Given the description of an element on the screen output the (x, y) to click on. 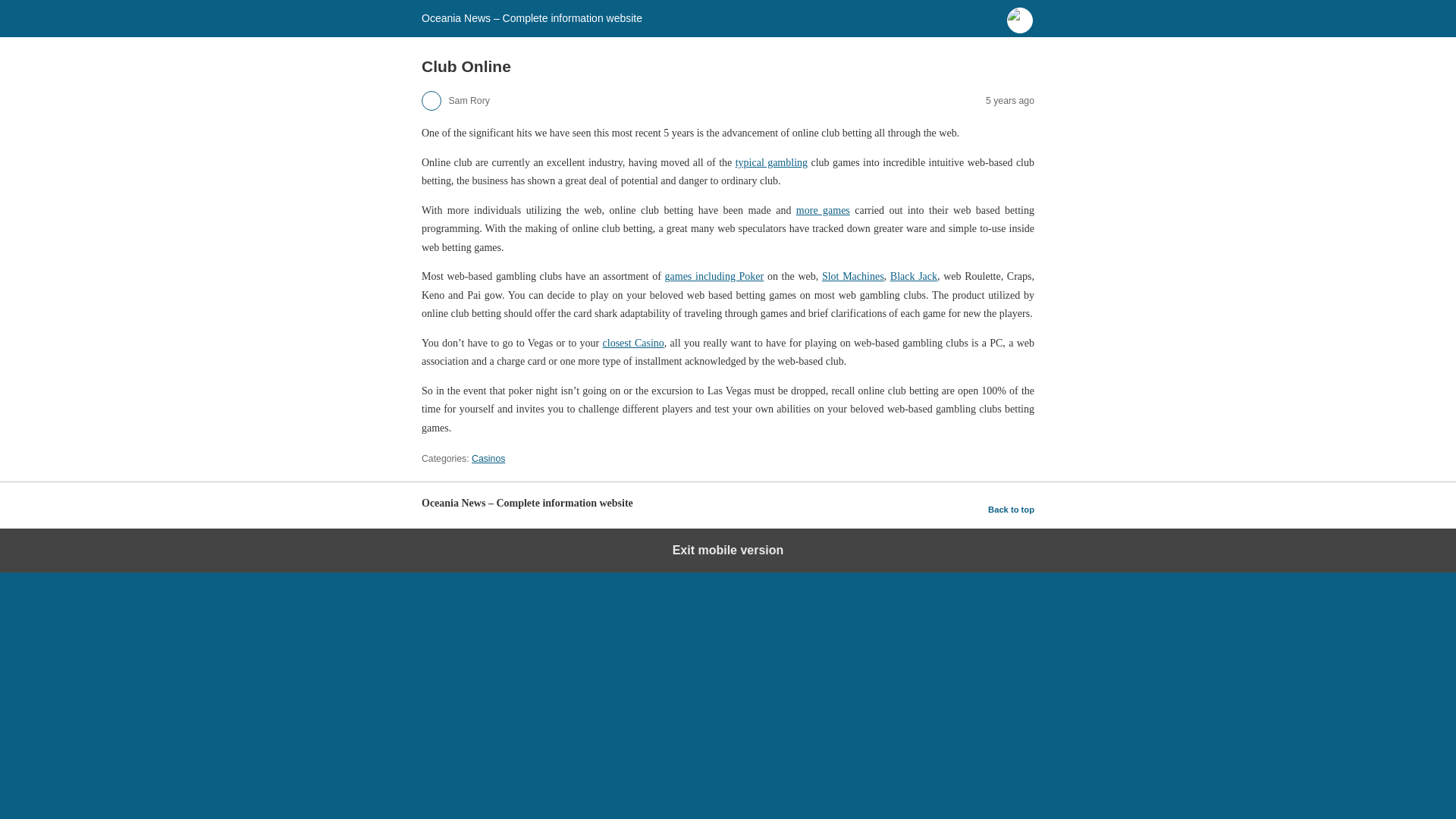
Back to top (1010, 509)
Black Jack (913, 276)
typical gambling (771, 162)
Casinos (488, 458)
games including Poker (714, 276)
more games (823, 210)
Slot Machines (852, 276)
closest Casino (632, 342)
